Given the description of an element on the screen output the (x, y) to click on. 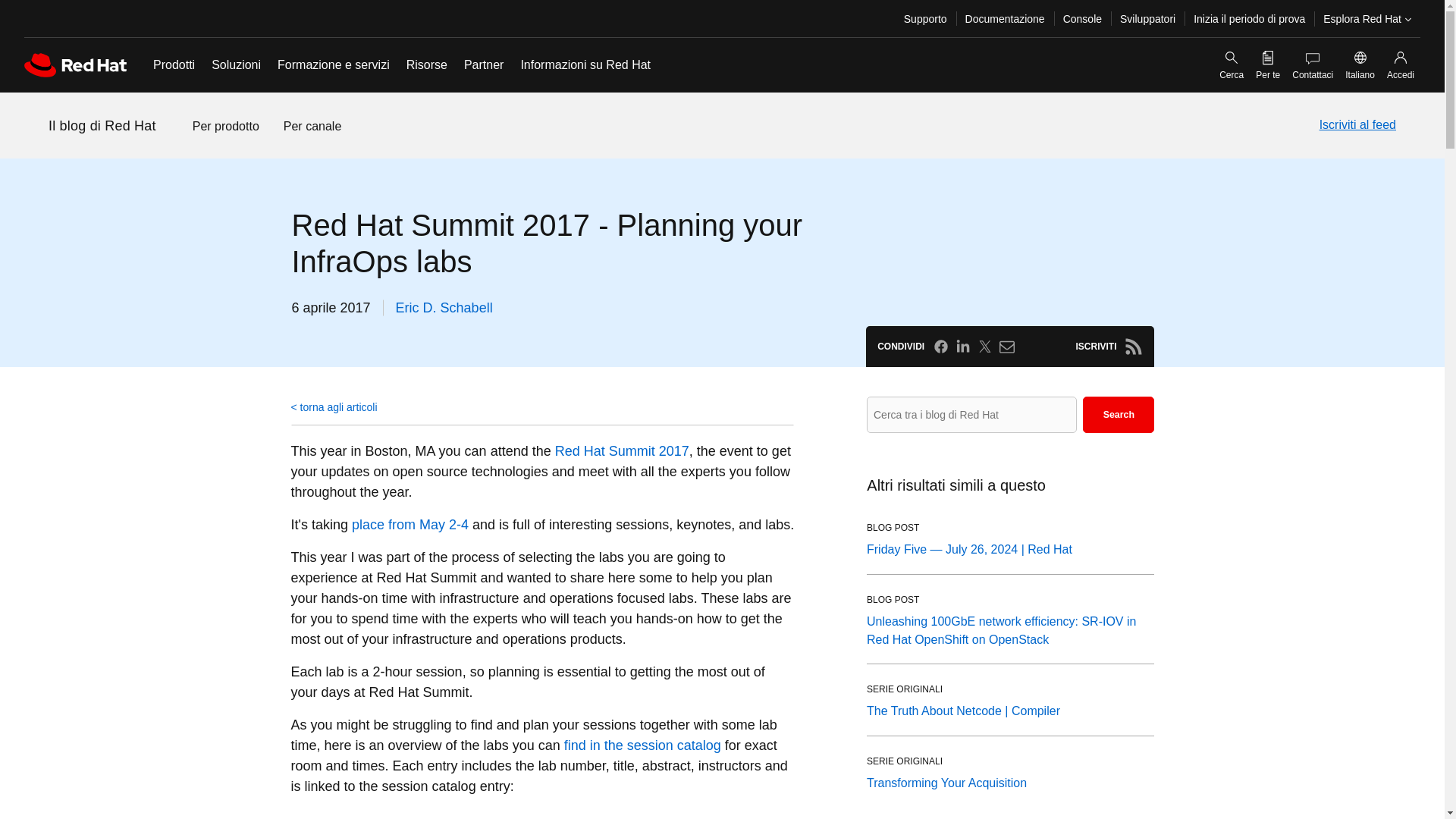
See more by Eric D. Schabell (444, 307)
Console (1082, 18)
Iscriviti al feed (1357, 125)
Sviluppatori (1147, 18)
Supporto (925, 18)
Documentazione (1005, 18)
Inizia il periodo di prova (1249, 18)
Iscriviti (1132, 346)
Esplora Red Hat (1367, 18)
